Given the description of an element on the screen output the (x, y) to click on. 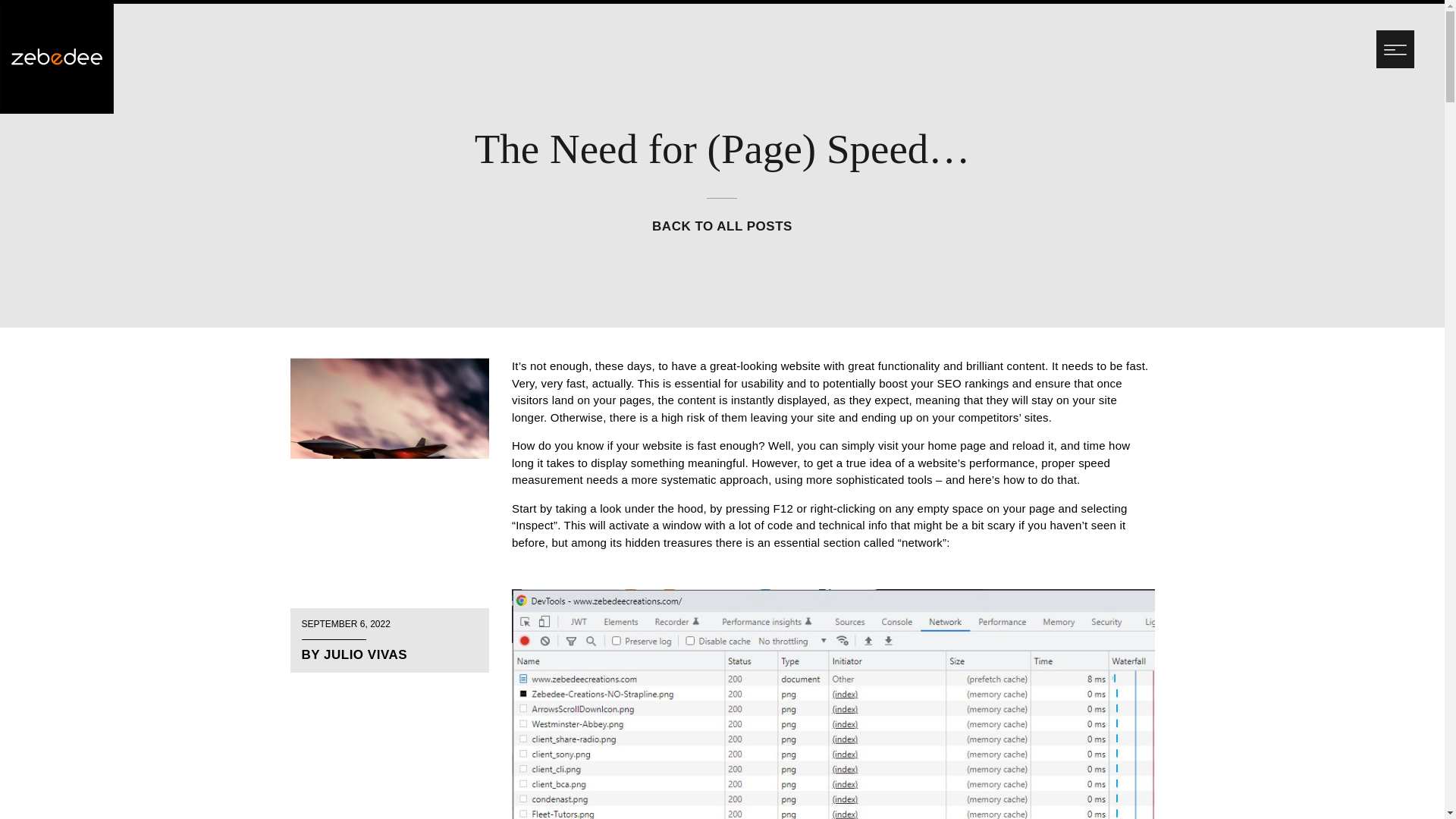
BACK TO ALL POSTS (722, 226)
Back To All Posts (722, 226)
